Given the description of an element on the screen output the (x, y) to click on. 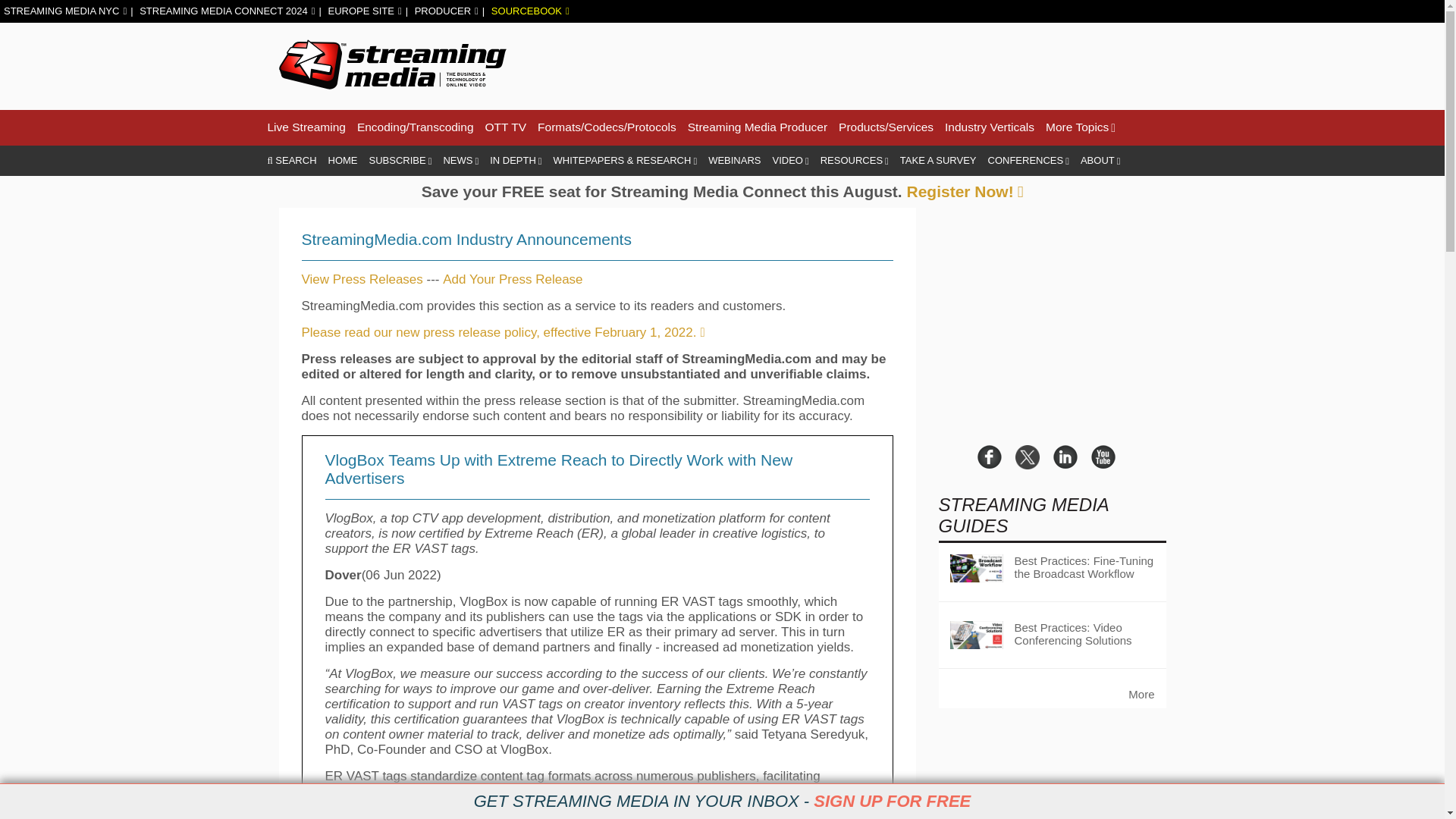
STREAMING MEDIA NYC (65, 10)
3rd party ad content (890, 64)
SOURCEBOOK (530, 10)
OTT TV (505, 127)
STREAMING MEDIA CONNECT 2024 (226, 10)
Live Streaming (305, 127)
More Topics (1080, 127)
Industry Verticals (988, 127)
SUBSCRIBE (400, 160)
OTT TV (505, 127)
HOME (343, 160)
Live Streaming (305, 127)
Streaming Media Producer (757, 127)
 SEARCH (290, 160)
EUROPE SITE (364, 10)
